Given the description of an element on the screen output the (x, y) to click on. 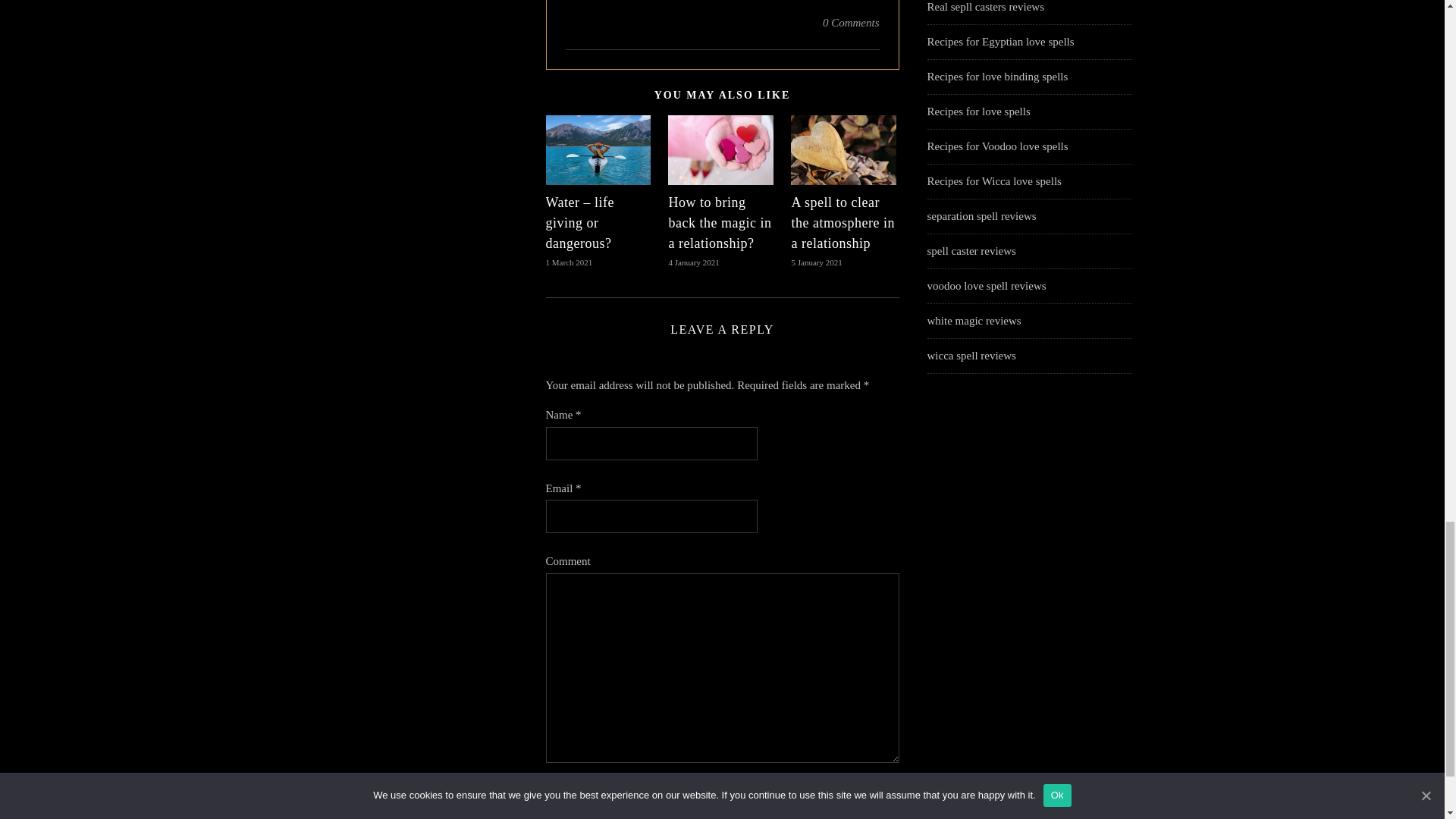
A spell to clear the atmosphere in a relationship (841, 222)
Post Comment (608, 803)
Post Comment (608, 803)
How to bring back the magic in a relationship? (719, 222)
0 Comments (850, 22)
